Given the description of an element on the screen output the (x, y) to click on. 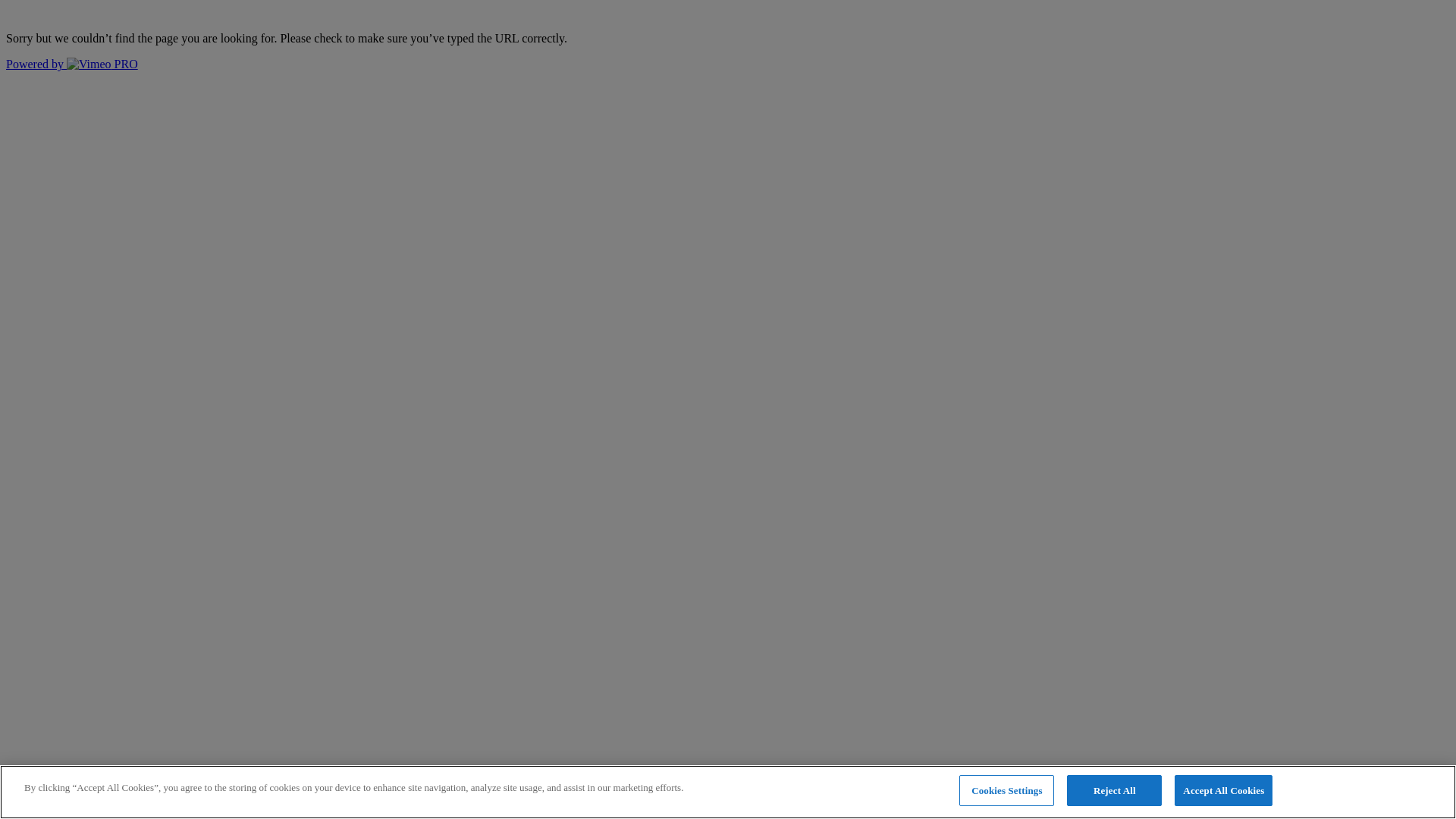
Cookies Settings Element type: text (1006, 790)
Accept All Cookies Element type: text (1223, 790)
Reject All Element type: text (1113, 790)
Powered by PRO Element type: text (72, 63)
